Given the description of an element on the screen output the (x, y) to click on. 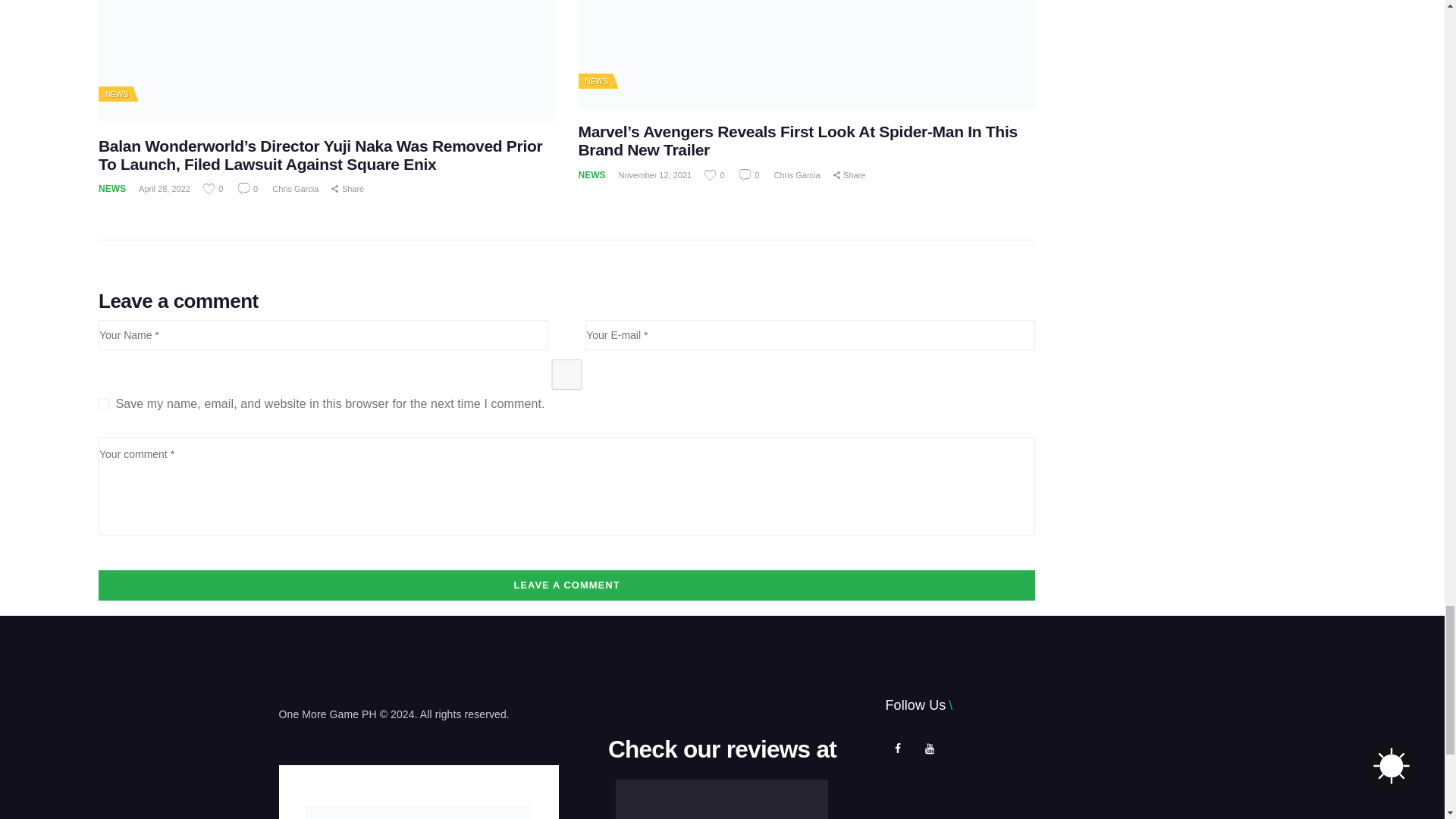
View all posts in News (596, 81)
Leave a comment (567, 585)
View all posts in News (116, 93)
Like (214, 188)
yes (567, 374)
Like (715, 174)
